Given the description of an element on the screen output the (x, y) to click on. 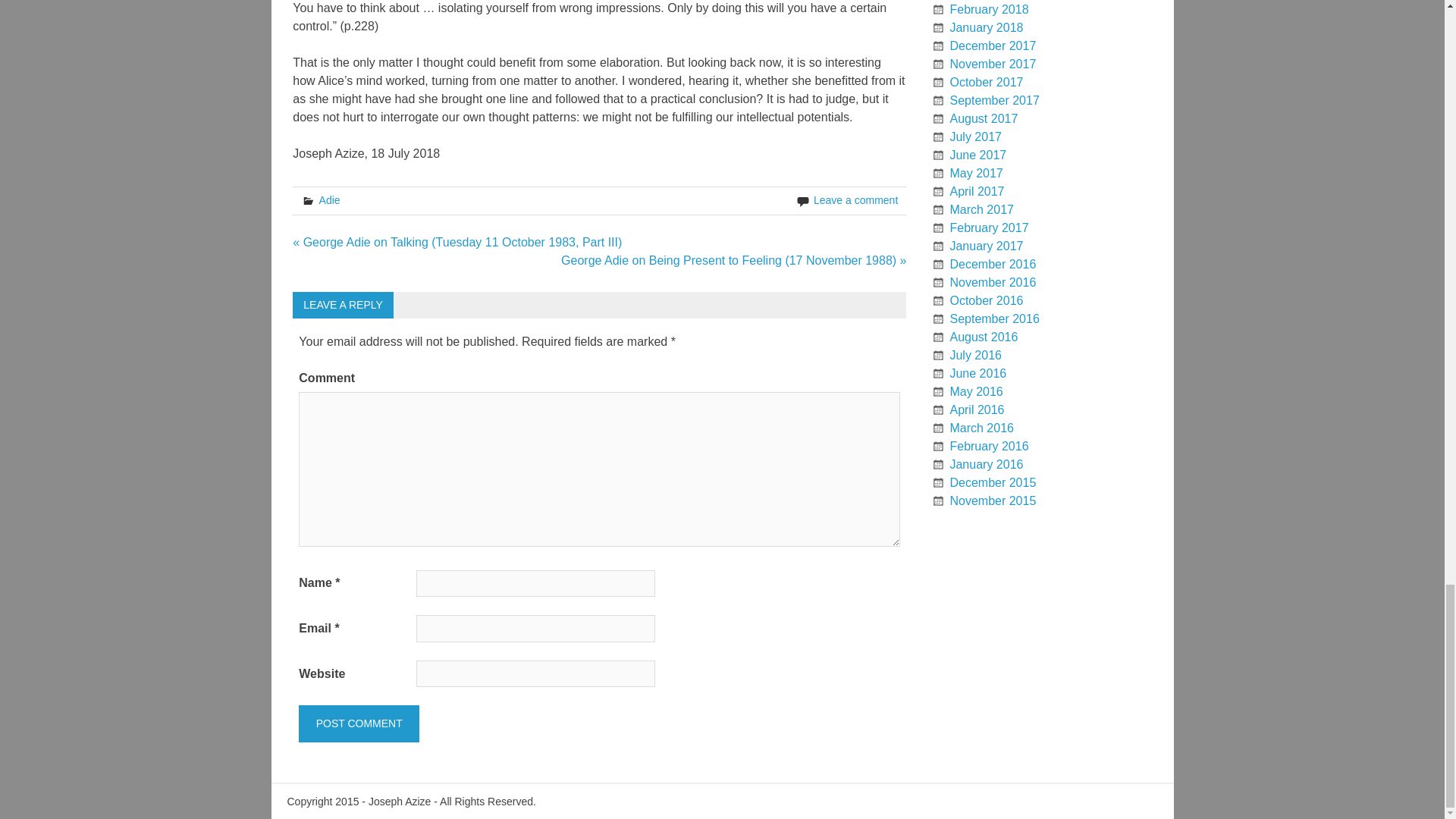
Adie (329, 200)
Leave a comment (855, 200)
Post Comment (358, 723)
Post Comment (358, 723)
